Given the description of an element on the screen output the (x, y) to click on. 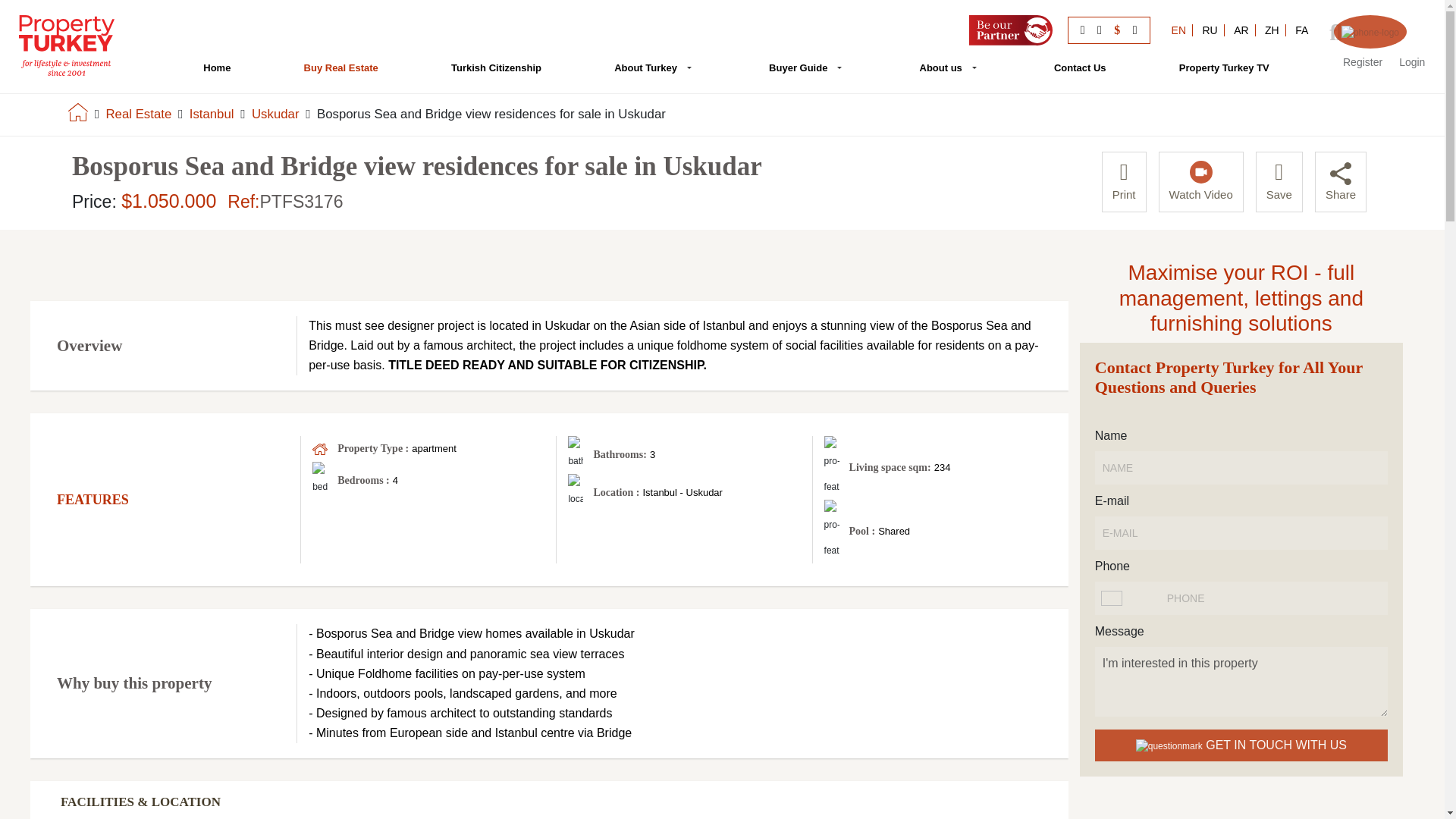
RU (1209, 30)
Cameraicon (1200, 171)
property turkey logo (66, 45)
ZH (1272, 30)
FA (1301, 30)
EN (1179, 30)
AR (1241, 30)
share button (1340, 173)
home (77, 111)
